Given the description of an element on the screen output the (x, y) to click on. 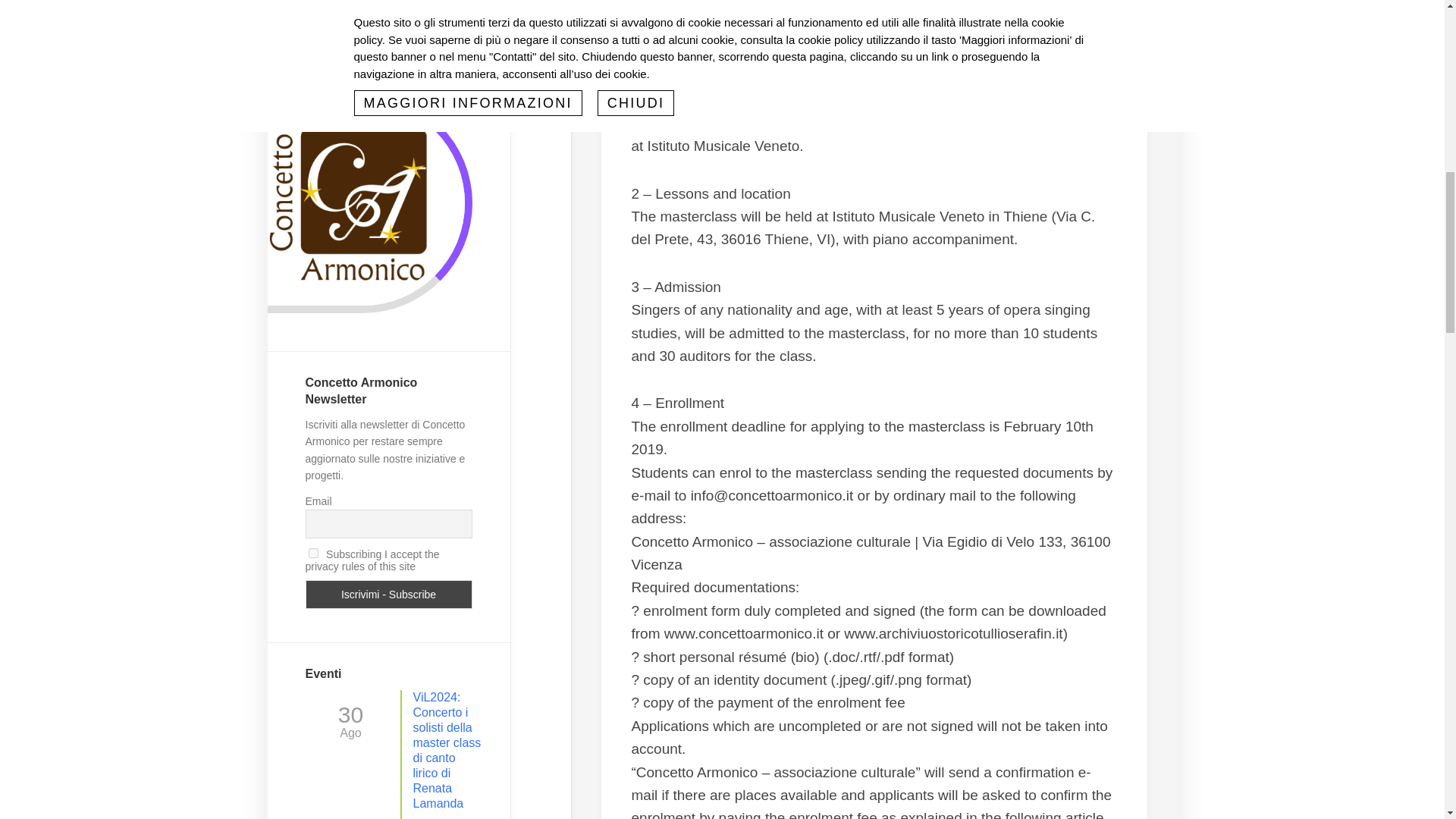
Biglietteria (387, 7)
on (312, 552)
Iscrivimi - Subscribe (387, 594)
